Given the description of an element on the screen output the (x, y) to click on. 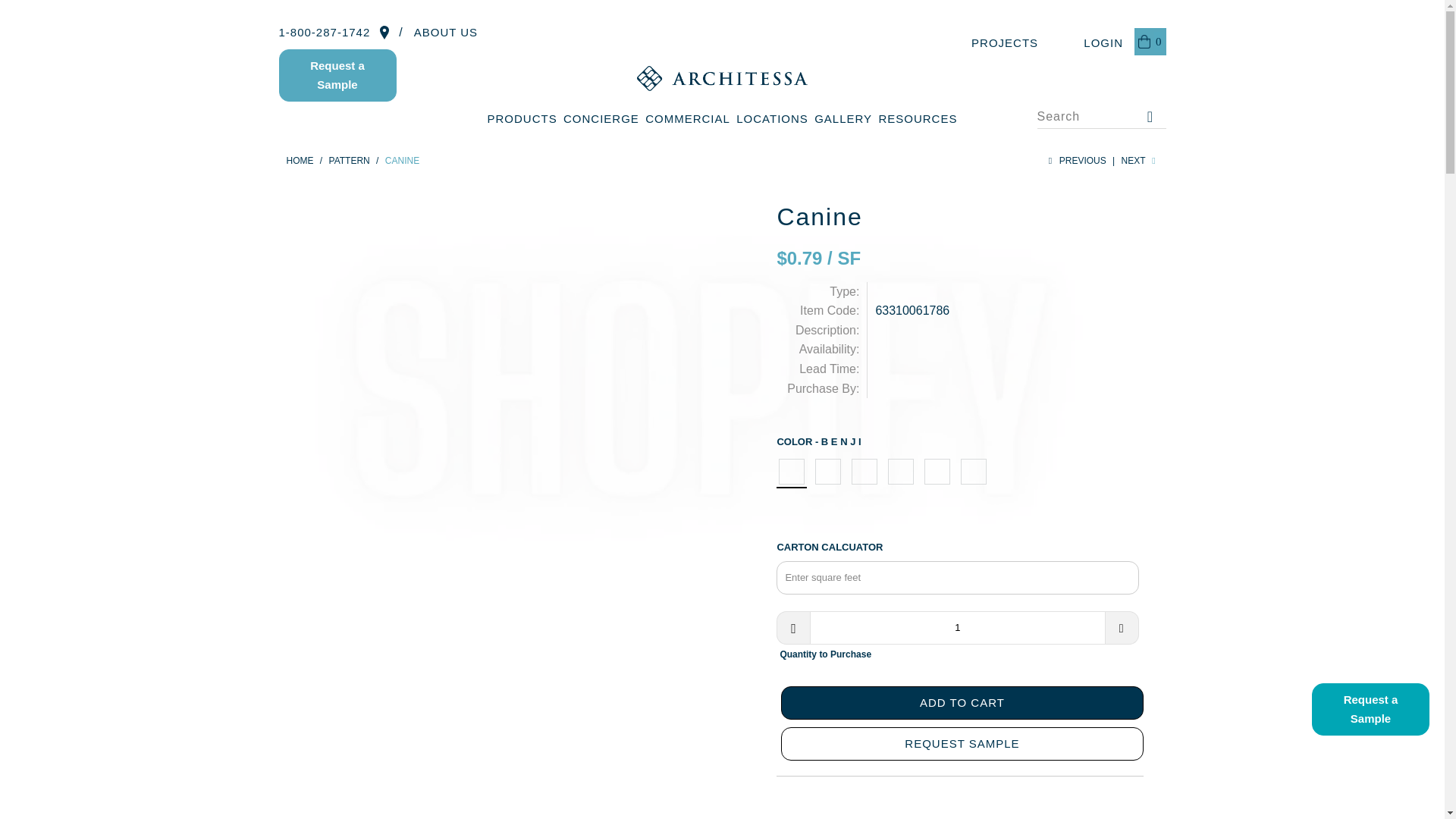
Previous (1074, 160)
Architessa (300, 160)
My Account  (1092, 42)
1 (957, 627)
Next (1139, 160)
Architessa (721, 78)
Architessa locations (384, 32)
Pattern (349, 160)
